Given the description of an element on the screen output the (x, y) to click on. 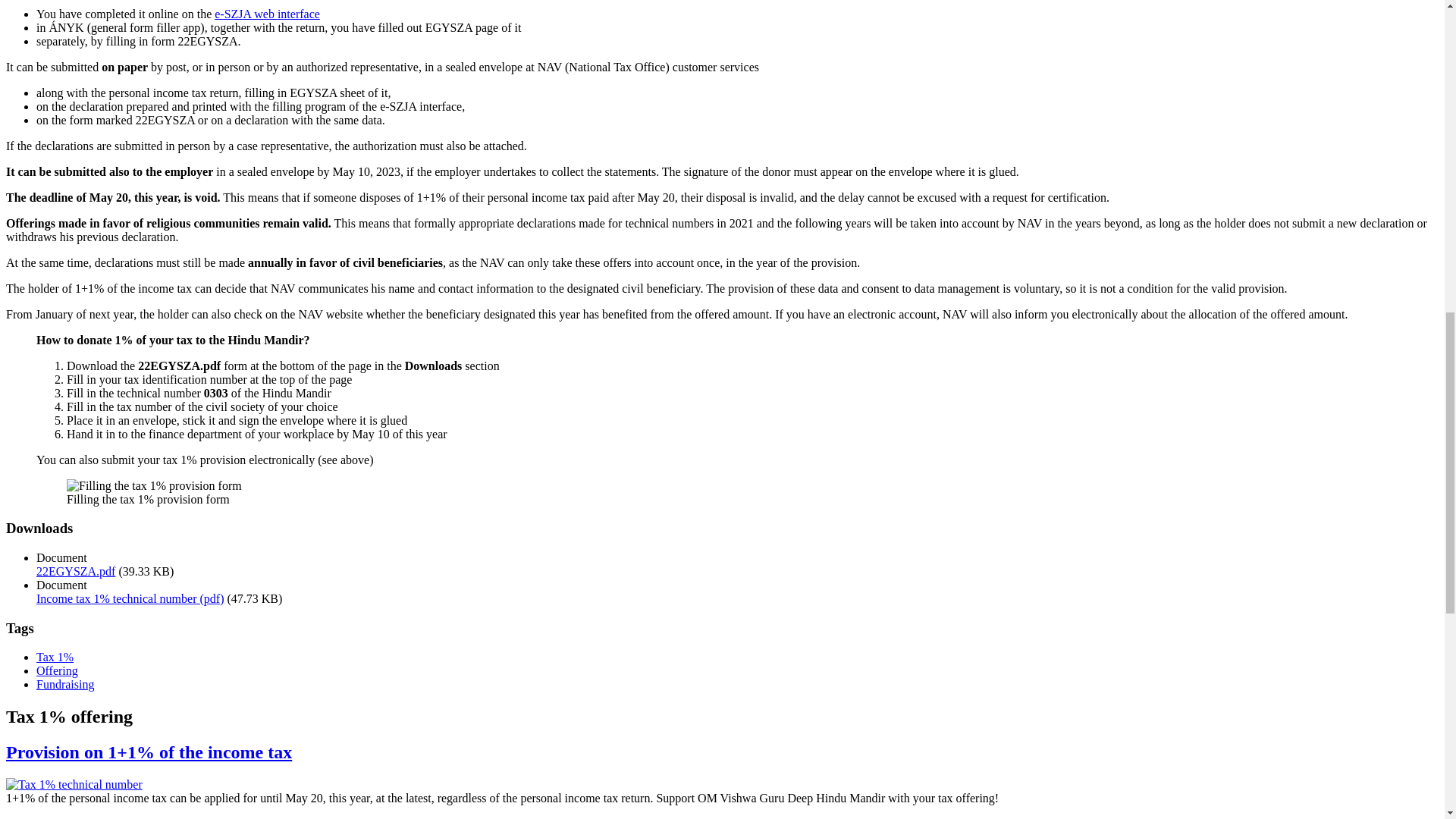
Offering (57, 670)
22EGYSZA.pdf (75, 571)
Fundraising (65, 684)
Hindu Mandir Technical Number.pdf (130, 598)
e-SZJA web interface (267, 13)
